Given the description of an element on the screen output the (x, y) to click on. 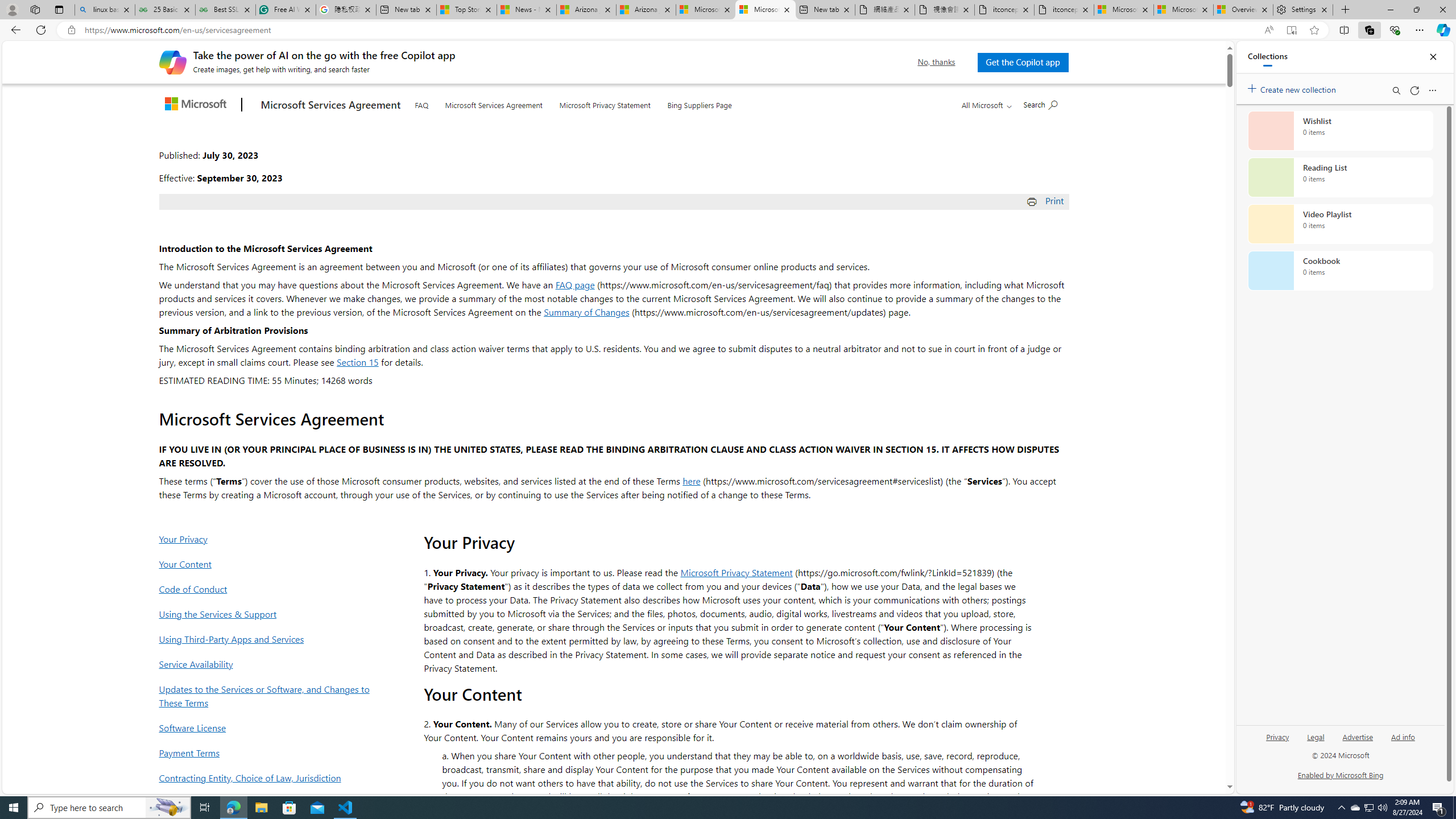
Free AI Writing Assistance for Students | Grammarly (285, 9)
FAQ (421, 103)
